Given the description of an element on the screen output the (x, y) to click on. 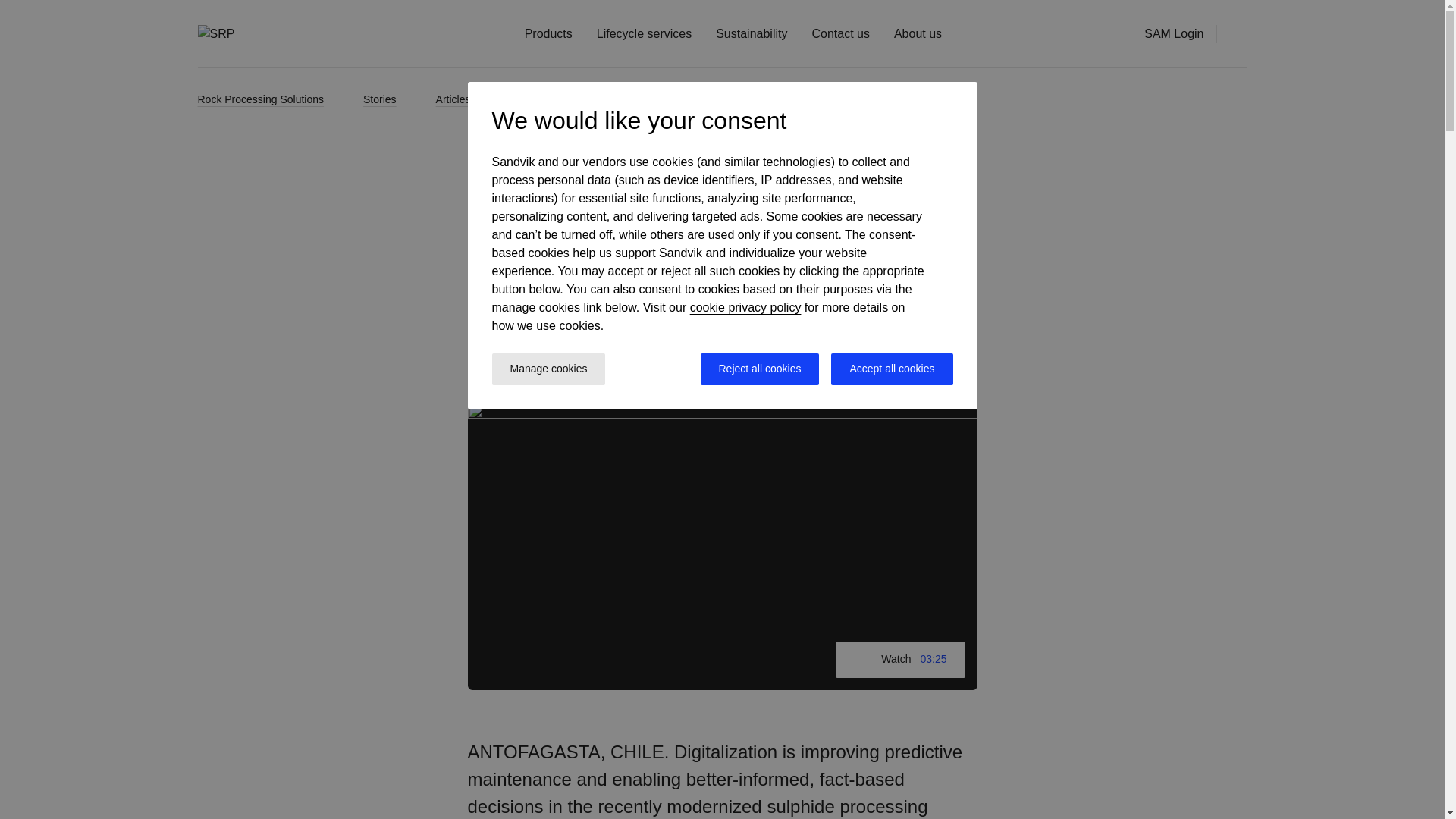
Stories (392, 99)
Search (1237, 33)
Rock Processing Solutions (273, 99)
Lifecycle services (643, 33)
Contact us (839, 33)
Innovation (497, 213)
Articles (466, 99)
cookie privacy policy (746, 307)
Manage cookies (548, 368)
Accept all cookies (891, 368)
